Given the description of an element on the screen output the (x, y) to click on. 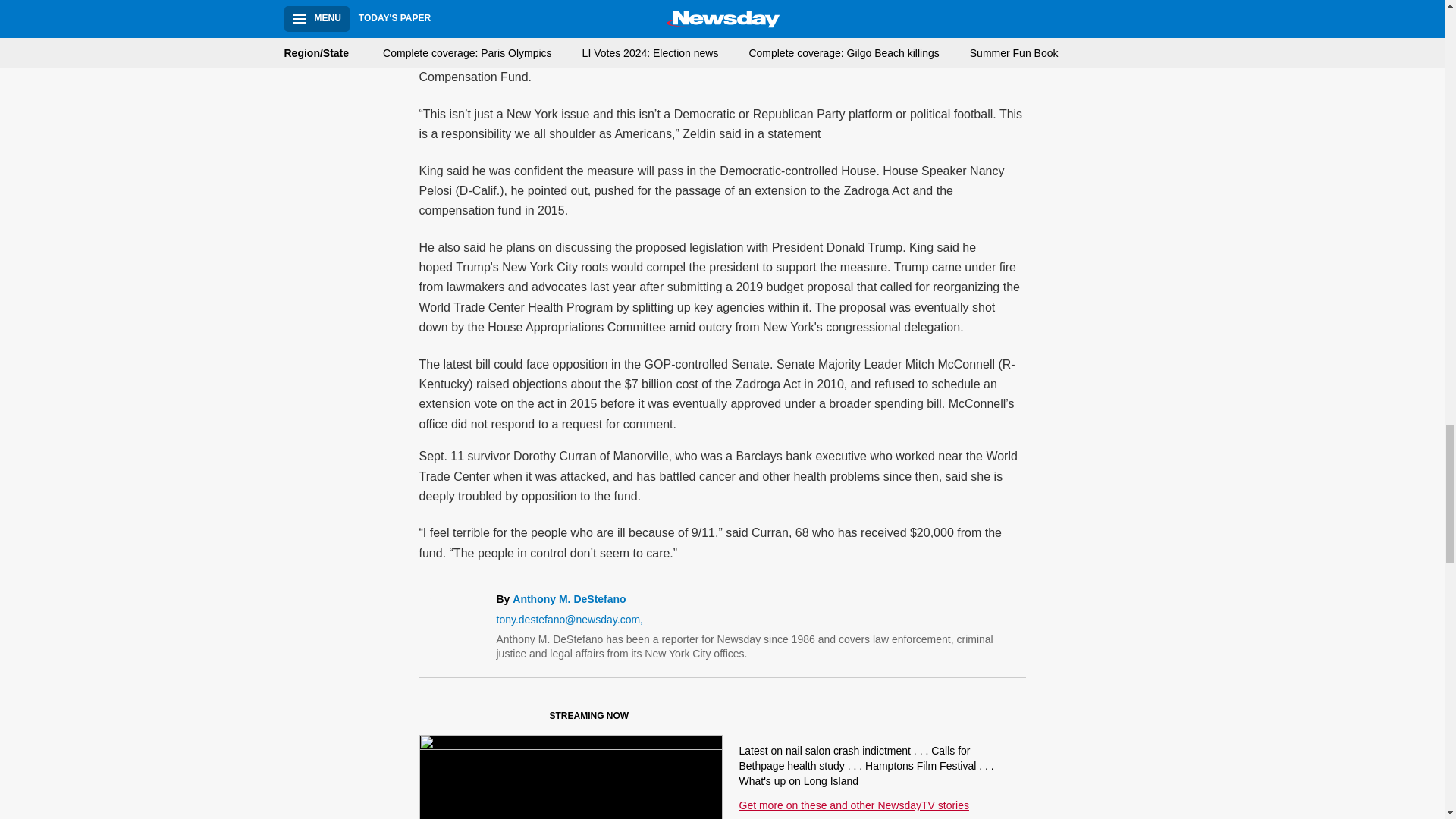
Anthony M. DeStefano (569, 599)
STREAMING NOW (530, 718)
Get more on these and other NewsdayTV stories (853, 805)
